Given the description of an element on the screen output the (x, y) to click on. 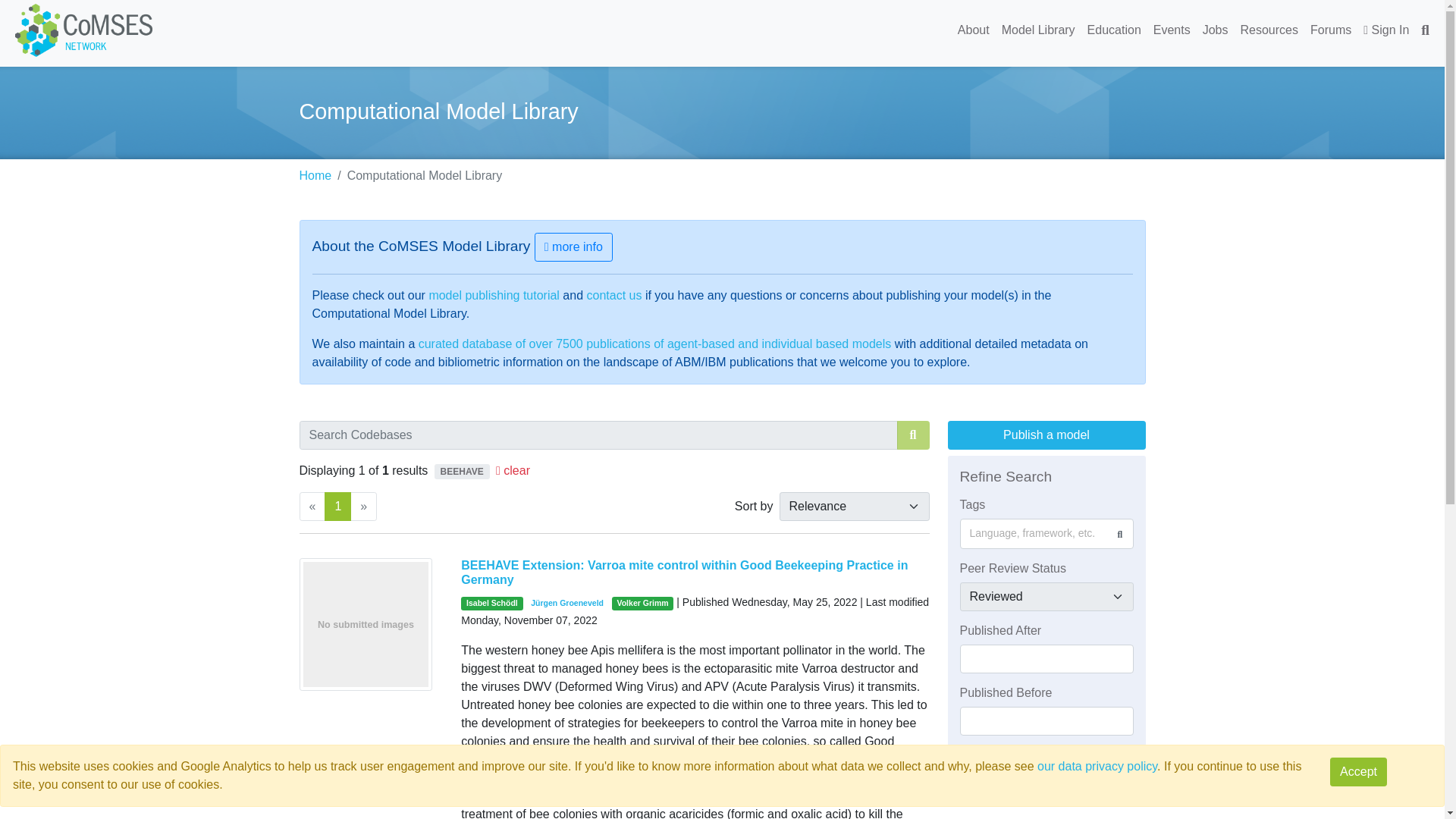
Home (314, 174)
Sign In (1385, 30)
Model Library (1038, 30)
Resources (1269, 30)
Publish a model (1046, 433)
Education (1114, 30)
more info (573, 246)
clear (512, 470)
Apply Filters (1046, 766)
Jobs (1215, 30)
Volker Grimm (642, 603)
Forums (1330, 30)
model publishing tutorial (493, 295)
